Given the description of an element on the screen output the (x, y) to click on. 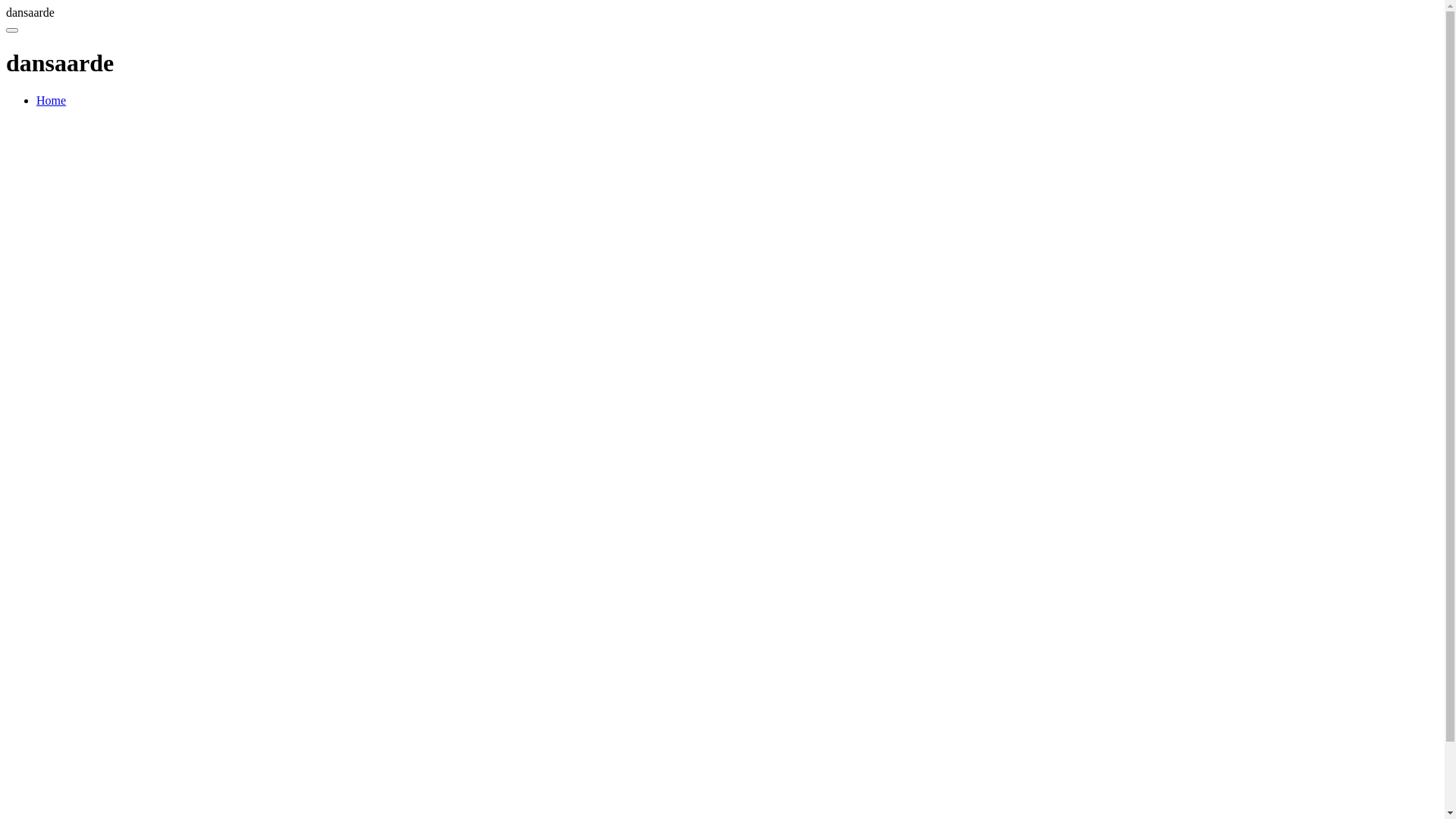
Home Element type: text (50, 100)
